Given the description of an element on the screen output the (x, y) to click on. 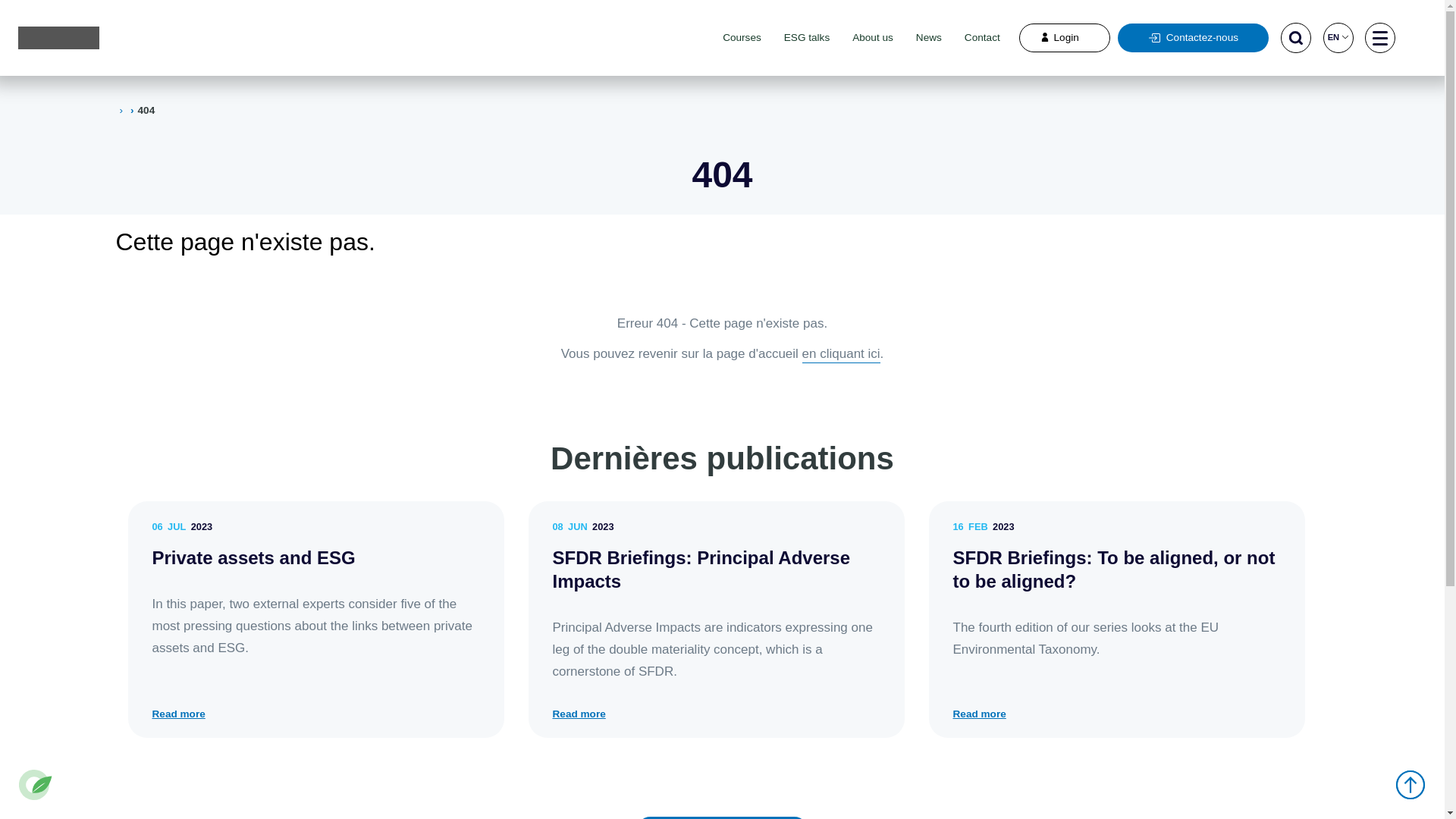
en cliquant ici Element type: text (841, 353)
Contactez-nous Element type: text (1192, 37)
Login Element type: text (1064, 37)
EN Element type: text (1338, 37)
